Given the description of an element on the screen output the (x, y) to click on. 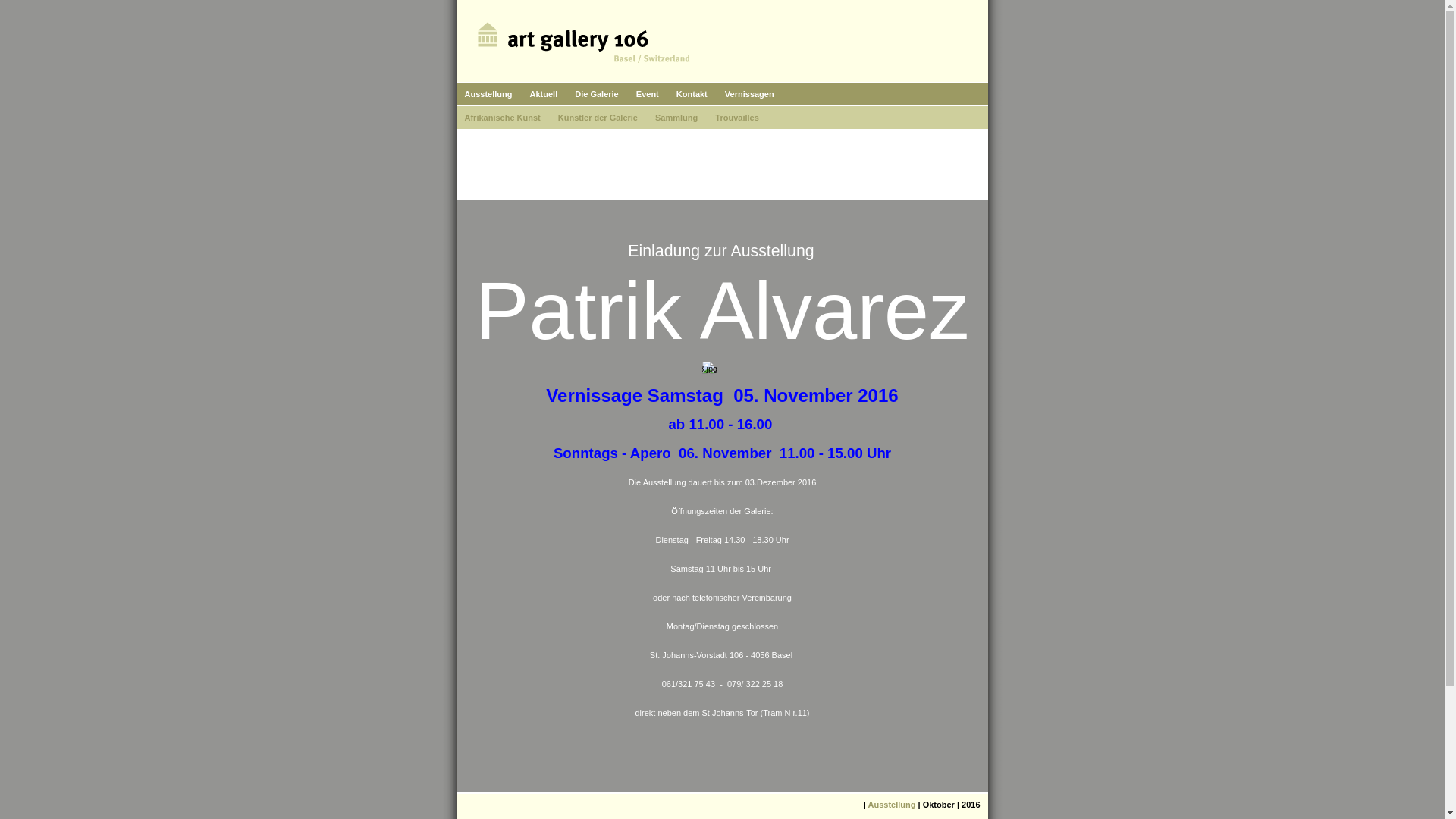
n008.jpg Element type: hover (709, 368)
Ausstellung Element type: text (892, 804)
Ausstellung Element type: text (487, 93)
Sammlung Element type: text (676, 117)
Die Galerie Element type: text (596, 93)
Aktuell Element type: text (543, 93)
Trouvailles Element type: text (736, 117)
Kontakt Element type: text (691, 93)
Vernissagen Element type: text (749, 93)
Event Element type: text (647, 93)
Afrikanische Kunst Element type: text (501, 117)
